Given the description of an element on the screen output the (x, y) to click on. 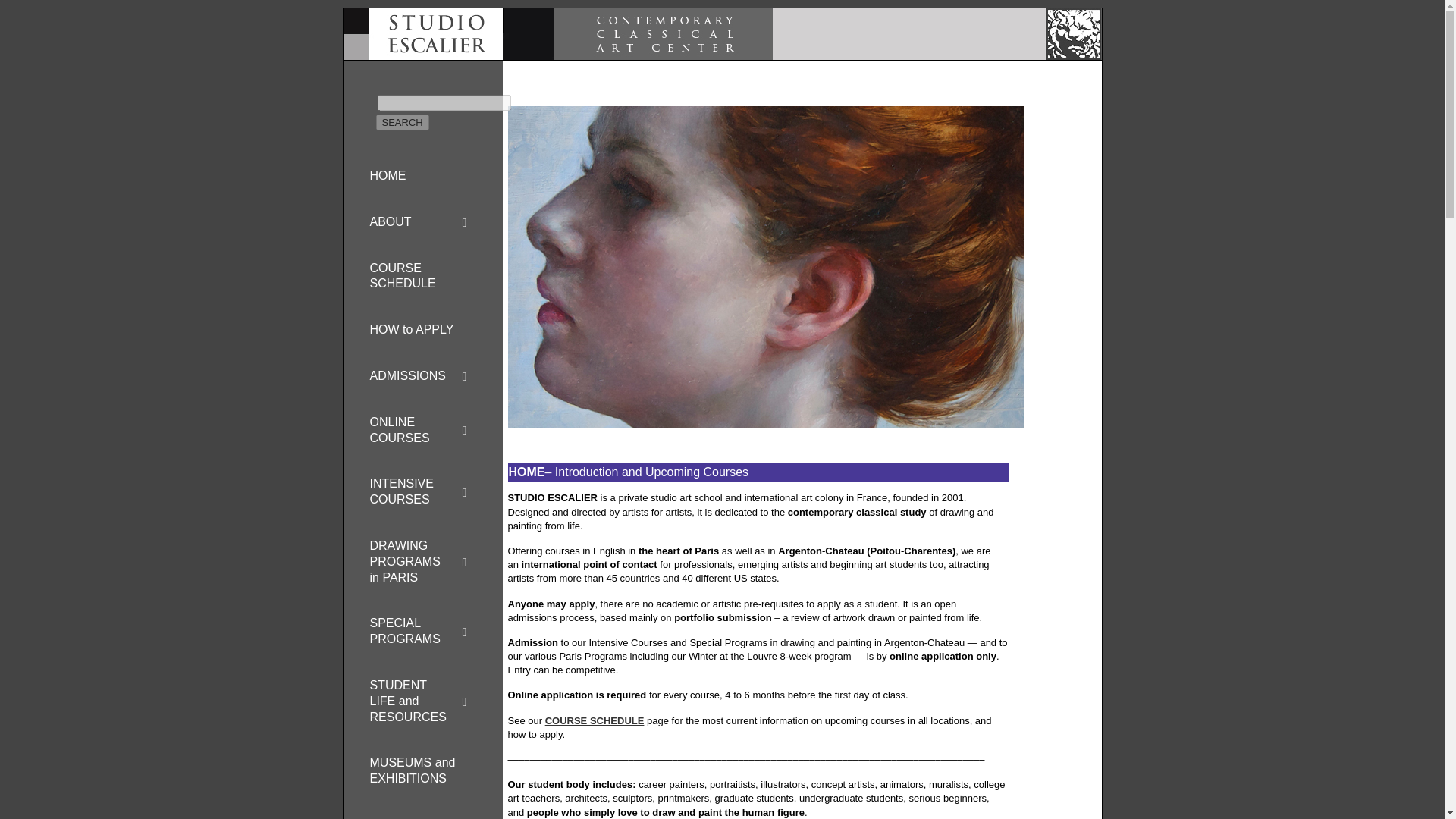
Course Schedule (594, 720)
6 (1036, 202)
COURSE SCHEDULE (423, 276)
9 (1036, 252)
11 (1036, 285)
1 (1036, 118)
ADMISSIONS (423, 375)
HOW to APPLY (423, 329)
Search (402, 122)
10 (1036, 269)
4 (1036, 168)
COURSE SCHEDULE (594, 720)
Search (402, 122)
ABOUT (423, 222)
8 (1036, 235)
